Given the description of an element on the screen output the (x, y) to click on. 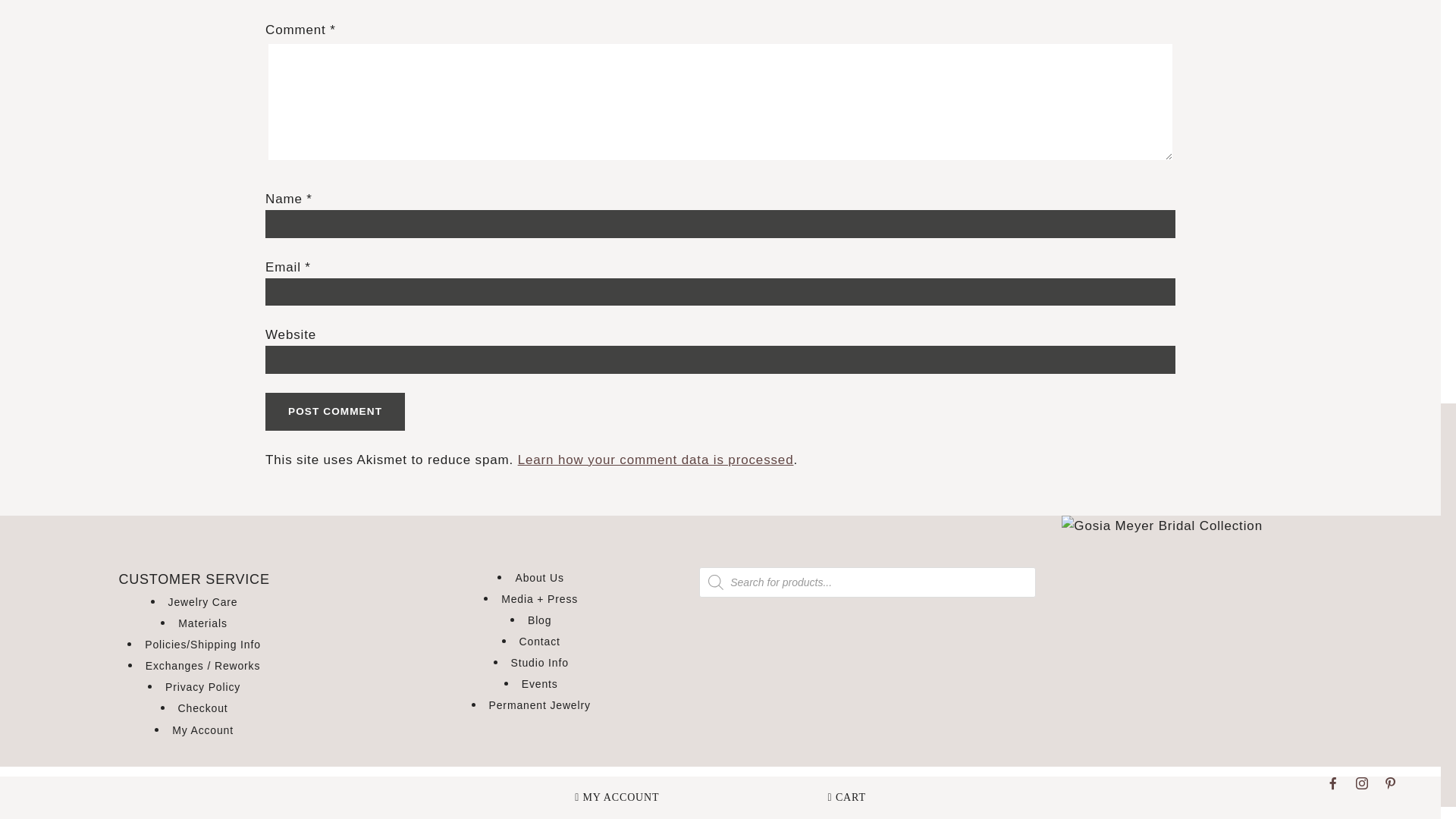
Post Comment (334, 411)
